Given the description of an element on the screen output the (x, y) to click on. 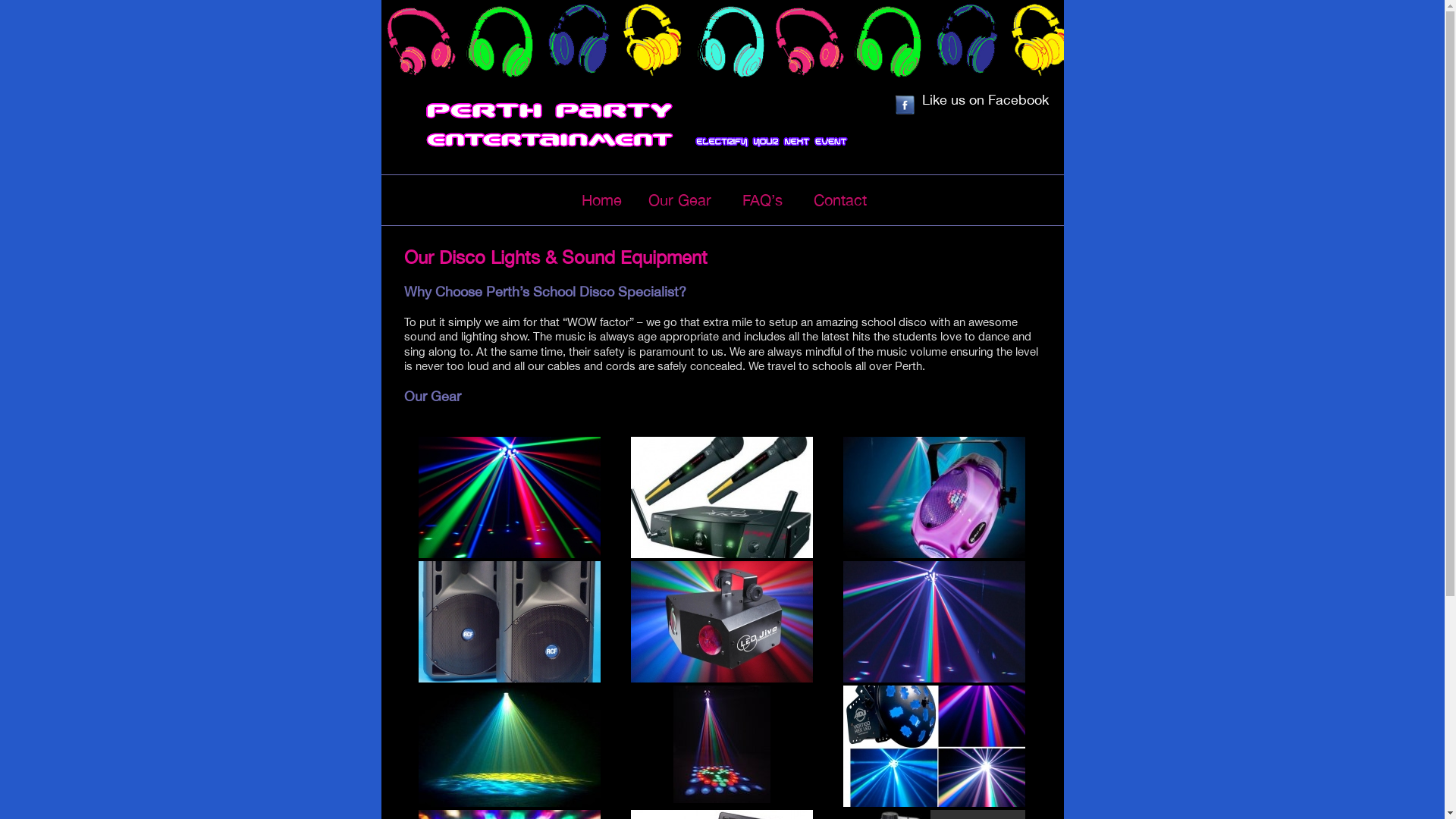
Vertigo Tri-LED Light Element type: hover (509, 497)
RCF Speakers Element type: hover (509, 621)
Waterwave Light Element type: hover (509, 745)
Wireless Mic System Element type: hover (721, 497)
Our Gear Element type: text (692, 199)
Contact Element type: text (853, 199)
Vertigo Tri-LED Light Element type: hover (509, 497)
Matrix LED Light Element type: hover (721, 744)
Light Effect Element type: hover (934, 621)
Jive Light Element type: hover (721, 621)
Vertigo Tri-LED Element type: hover (933, 745)
Light Effect Element type: hover (933, 621)
Matrix LED Light Element type: hover (721, 744)
RCF Speakers Element type: hover (509, 621)
Wireless Mic System Element type: hover (721, 497)
Waterwave Light Element type: hover (509, 745)
Vertigo Tri-LED Element type: hover (934, 745)
Home Element type: text (614, 199)
Jelly Jewell Disco Light Element type: hover (933, 497)
Jelly Jewell Disco Light Element type: hover (934, 497)
Jive Light Element type: hover (721, 621)
  Like us on Facebook Element type: text (971, 99)
